Given the description of an element on the screen output the (x, y) to click on. 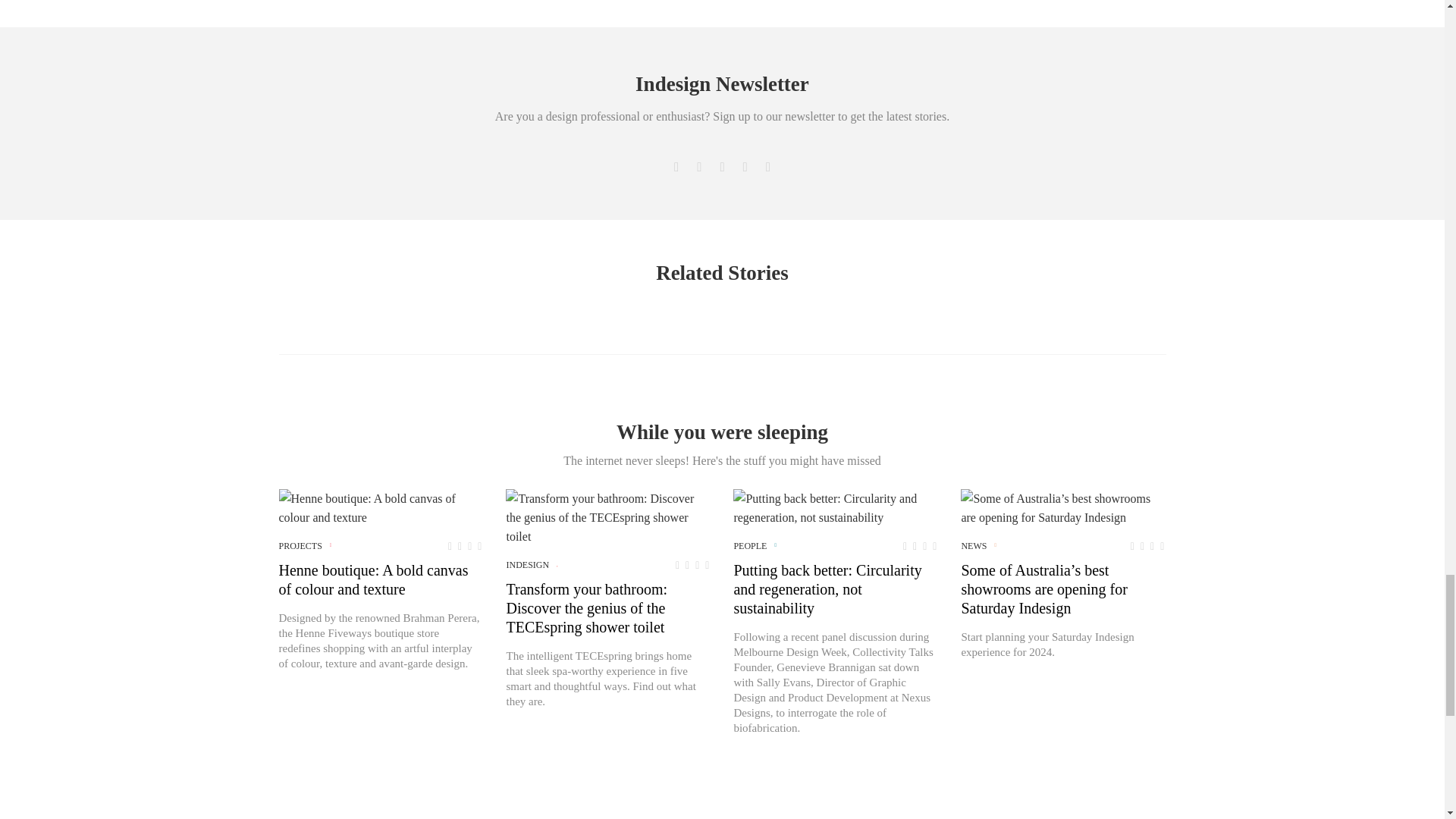
Henne boutique: A bold canvas of colour and texture (381, 507)
